Given the description of an element on the screen output the (x, y) to click on. 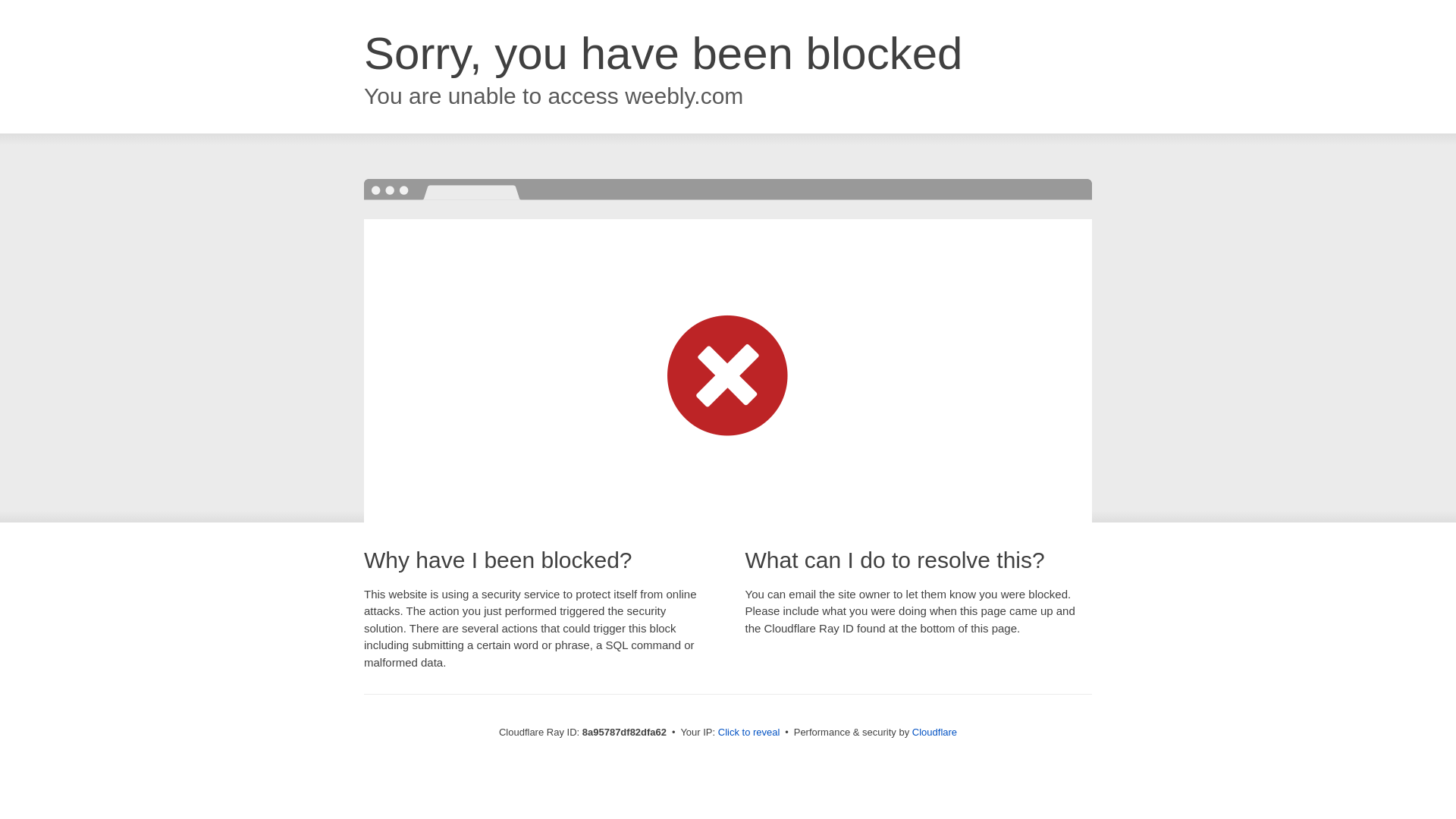
Click to reveal (748, 732)
Cloudflare (934, 731)
